Given the description of an element on the screen output the (x, y) to click on. 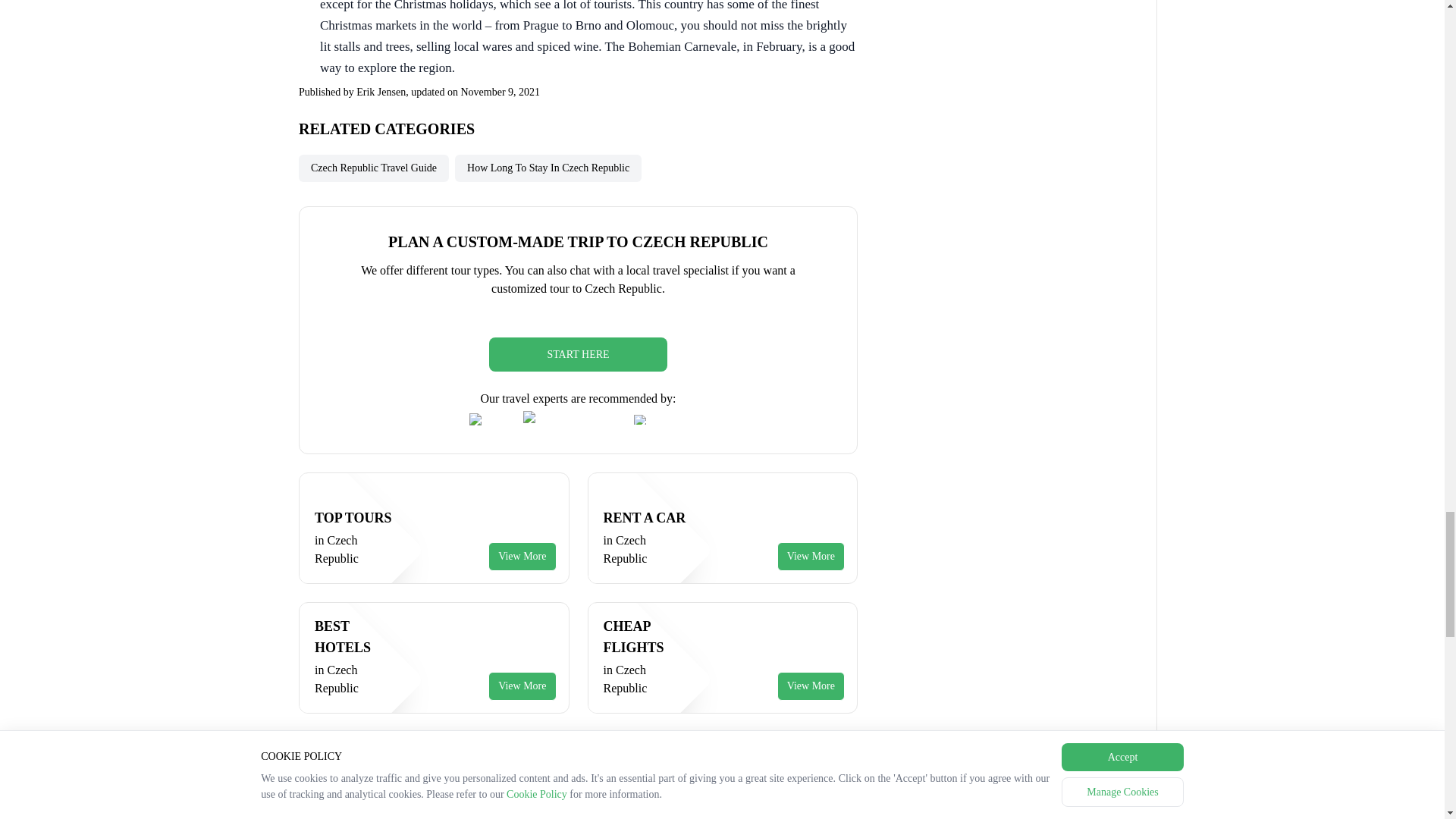
Czech Republic Travel Guide (722, 666)
START HERE (433, 536)
How Long To Stay In Czech Republic (373, 167)
